Given the description of an element on the screen output the (x, y) to click on. 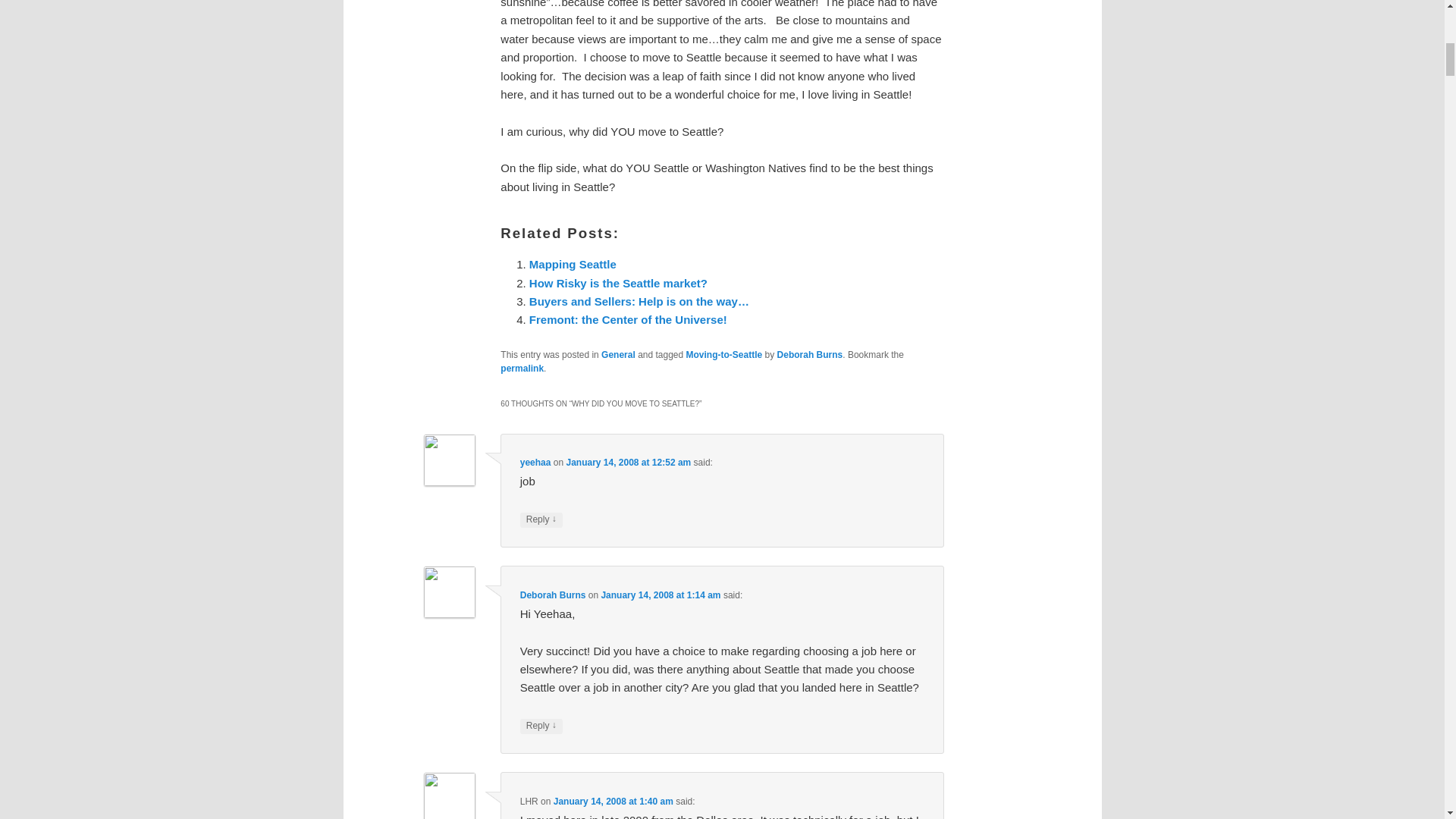
How Risky is the Seattle market? (618, 282)
Permalink to Why did YOU move to Seattle? (521, 368)
Mapping Seattle (572, 264)
Fremont: the Center of the Universe! (627, 318)
